Given the description of an element on the screen output the (x, y) to click on. 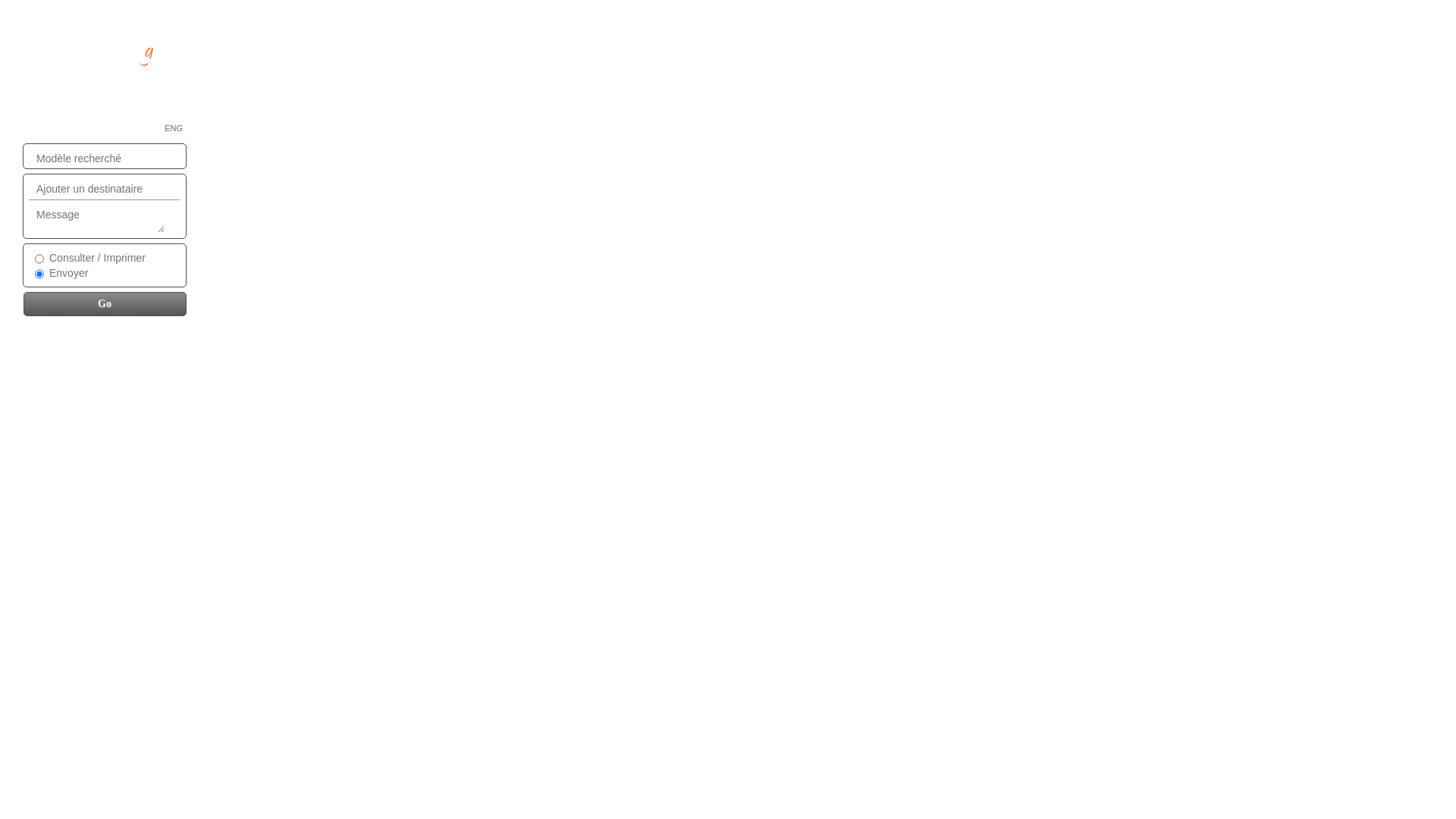
- Element type: hover (106, 69)
Go Element type: text (103, 303)
ENG Element type: text (173, 128)
